Given the description of an element on the screen output the (x, y) to click on. 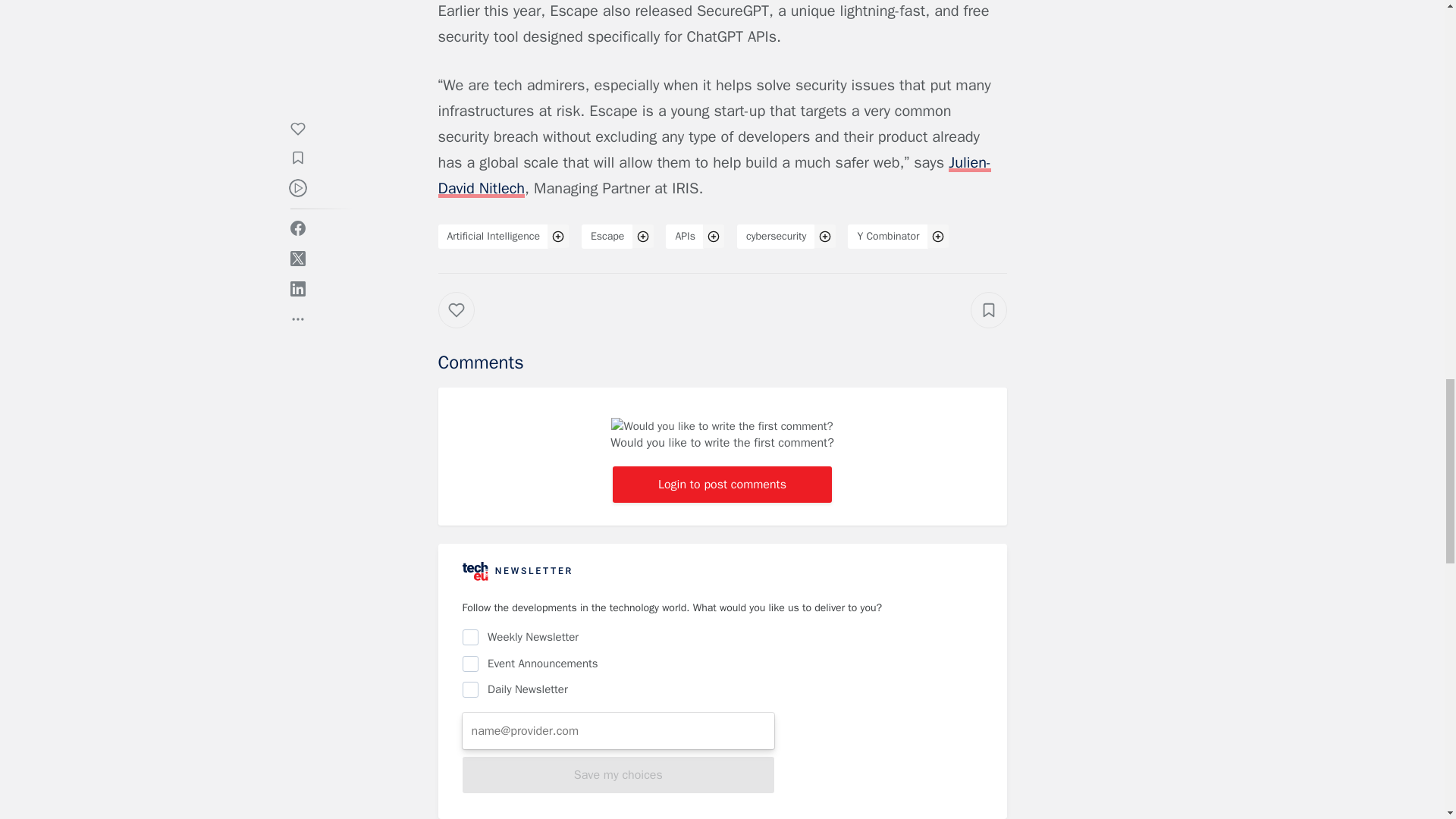
Add to collection (989, 309)
Artificial Intelligence (493, 236)
cybersecurity (775, 236)
Y Combinator (887, 236)
Like (467, 324)
APIs (684, 236)
Escape (606, 236)
